Given the description of an element on the screen output the (x, y) to click on. 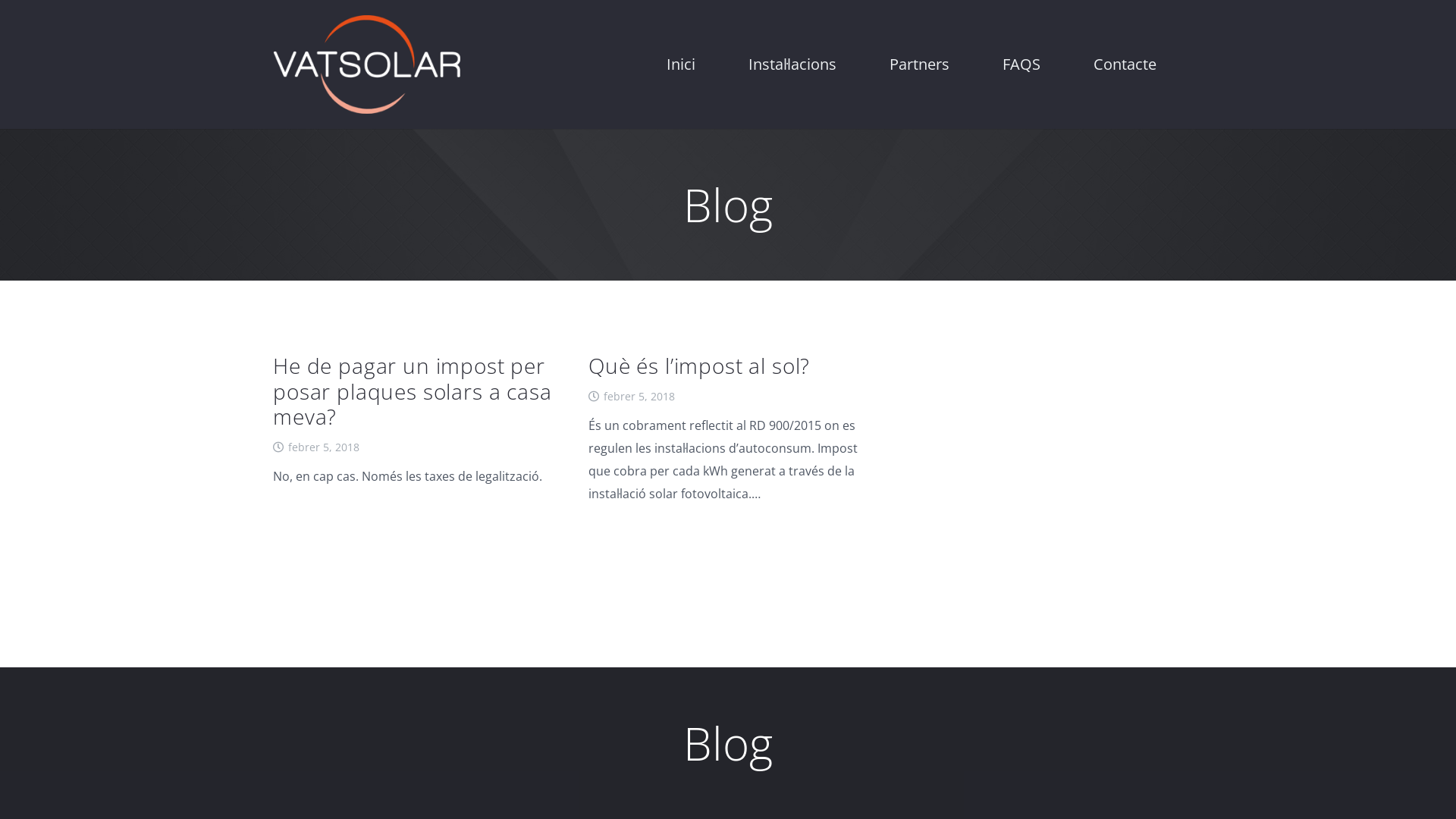
Inici Element type: text (680, 64)
FAQS Element type: text (1020, 64)
Contacte Element type: text (1124, 64)
Partners Element type: text (918, 64)
He de pagar un impost per posar plaques solars a casa meva? Element type: text (412, 390)
